Given the description of an element on the screen output the (x, y) to click on. 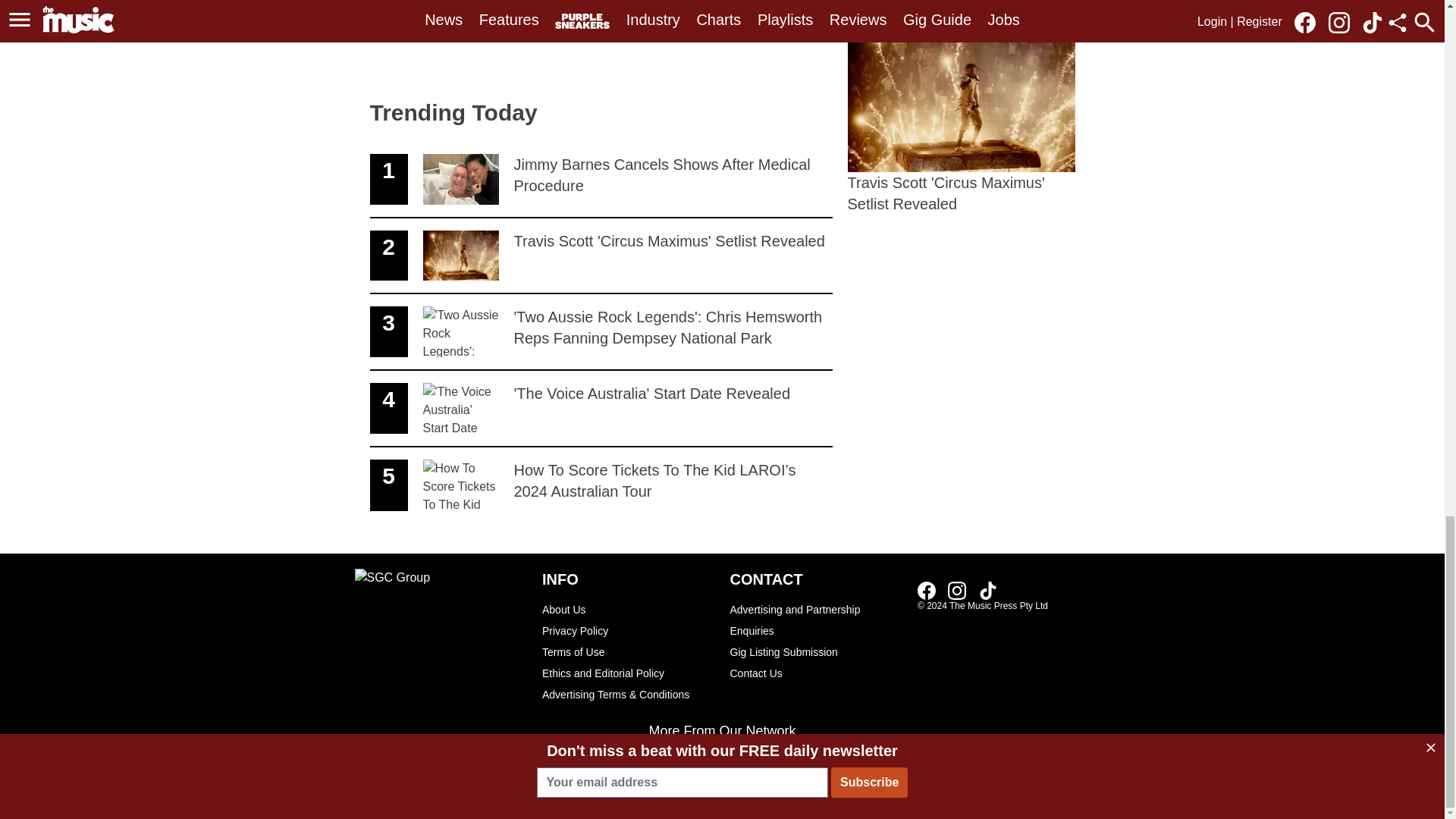
Privacy Policy (627, 630)
Travis Scott 'Circus Maximus' Setlist Revealed (961, 117)
Link to our Facebook (926, 590)
Link to our Instagram (600, 179)
Ethics and Editorial Policy (600, 409)
About Us (956, 590)
Link to our TikTok (627, 672)
Terms of Use (600, 256)
